Given the description of an element on the screen output the (x, y) to click on. 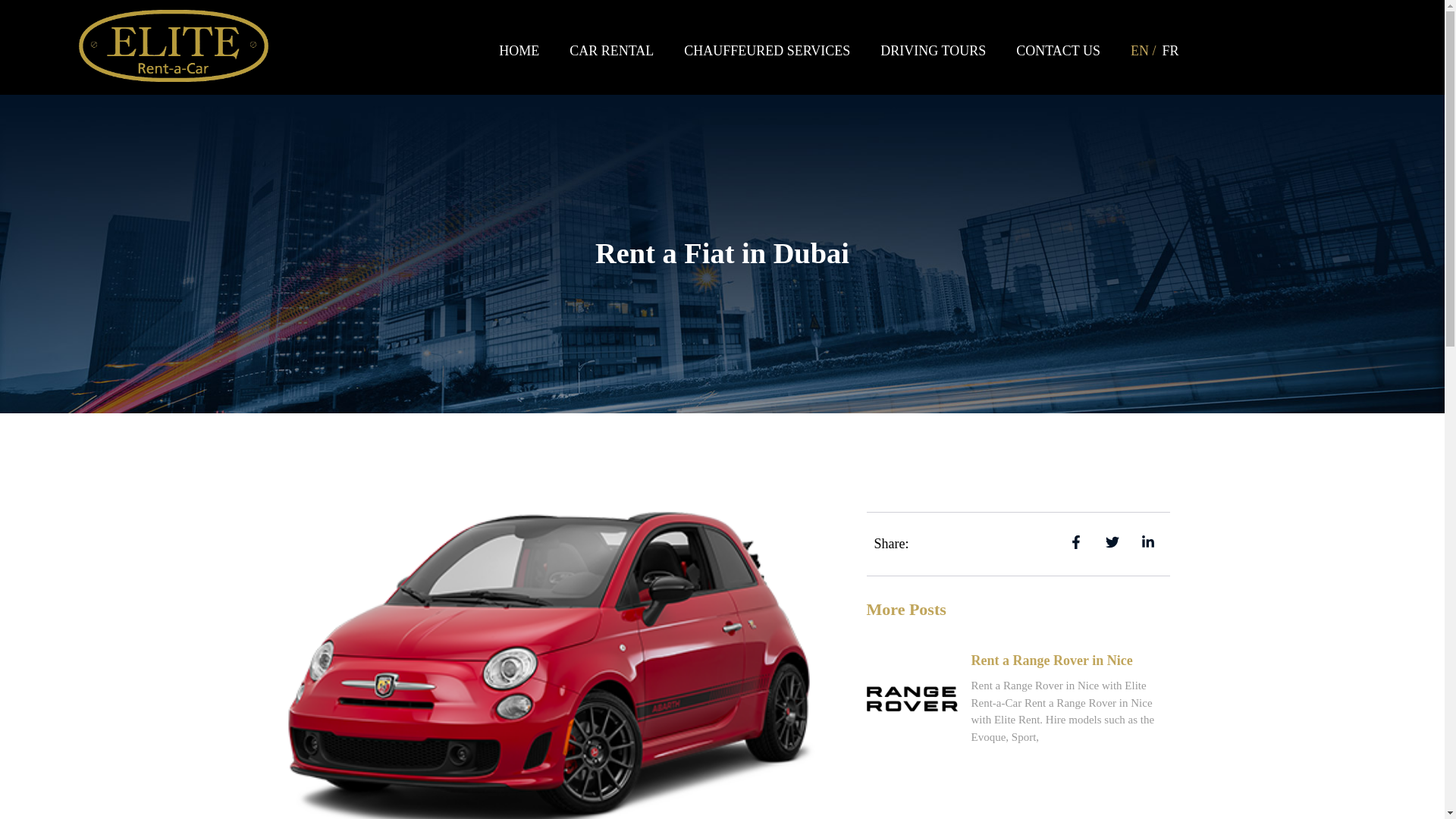
CONTACT US (1058, 50)
Rent a Range Rover in Nice (1051, 660)
CHAUFFEURED SERVICES (766, 50)
DRIVING TOURS (932, 50)
EN (1140, 50)
EN (1140, 50)
HOME (518, 50)
CAR RENTAL (611, 50)
